Given the description of an element on the screen output the (x, y) to click on. 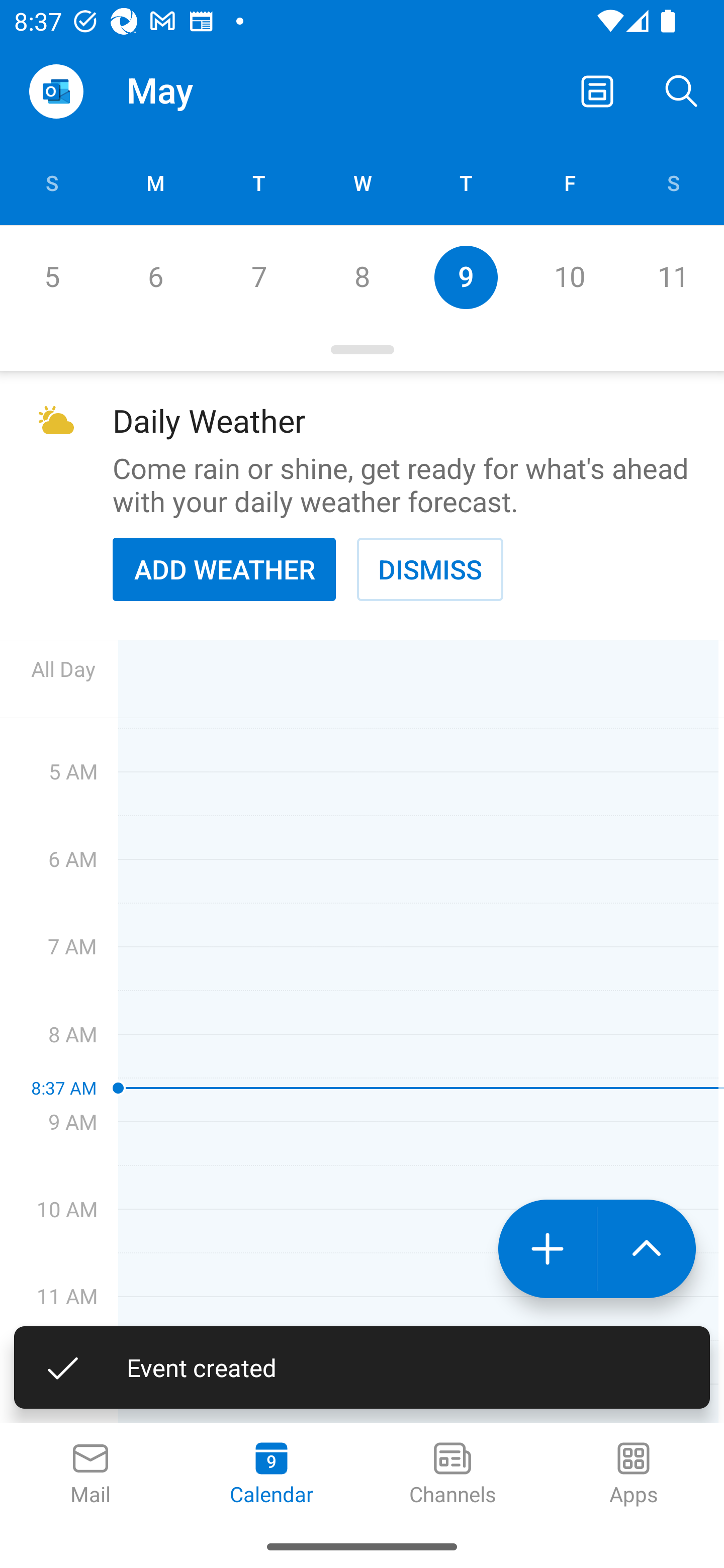
May May 2024, day picker (203, 90)
Switch away from Day view (597, 90)
Search, ,  (681, 90)
Open Navigation Drawer (55, 91)
5 Sunday, May 5 (51, 277)
6 Monday, May 6 (155, 277)
7 Tuesday, May 7 (258, 277)
8 Wednesday, May 8 (362, 277)
9 Thursday, May 9, today, Selected (465, 277)
10 Friday, May 10 (569, 277)
11 Saturday, May 11 (672, 277)
ADD WEATHER (224, 568)
DISMISS (429, 568)
New event (547, 1248)
launch the extended action menu (646, 1248)
Mail (90, 1474)
Channels (452, 1474)
Apps (633, 1474)
